Given the description of an element on the screen output the (x, y) to click on. 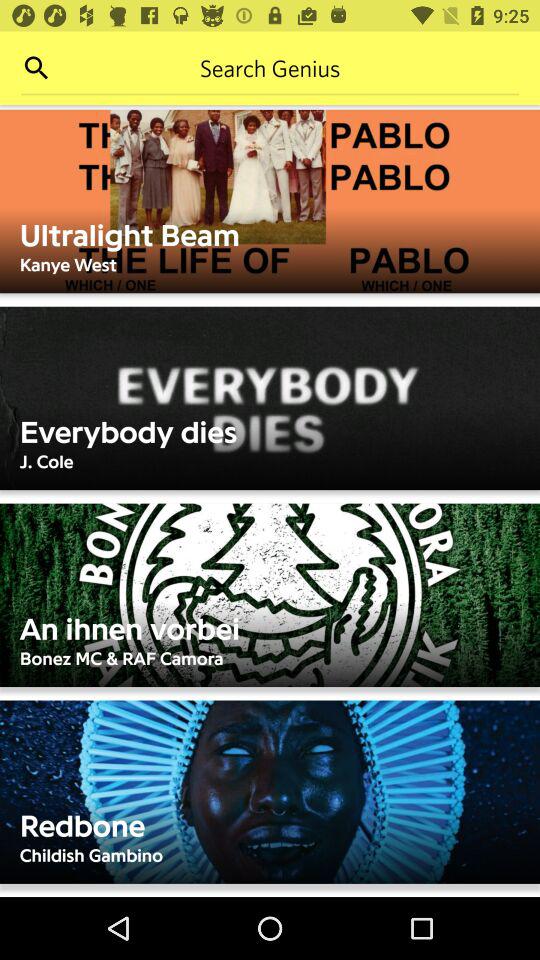
search (36, 68)
